Given the description of an element on the screen output the (x, y) to click on. 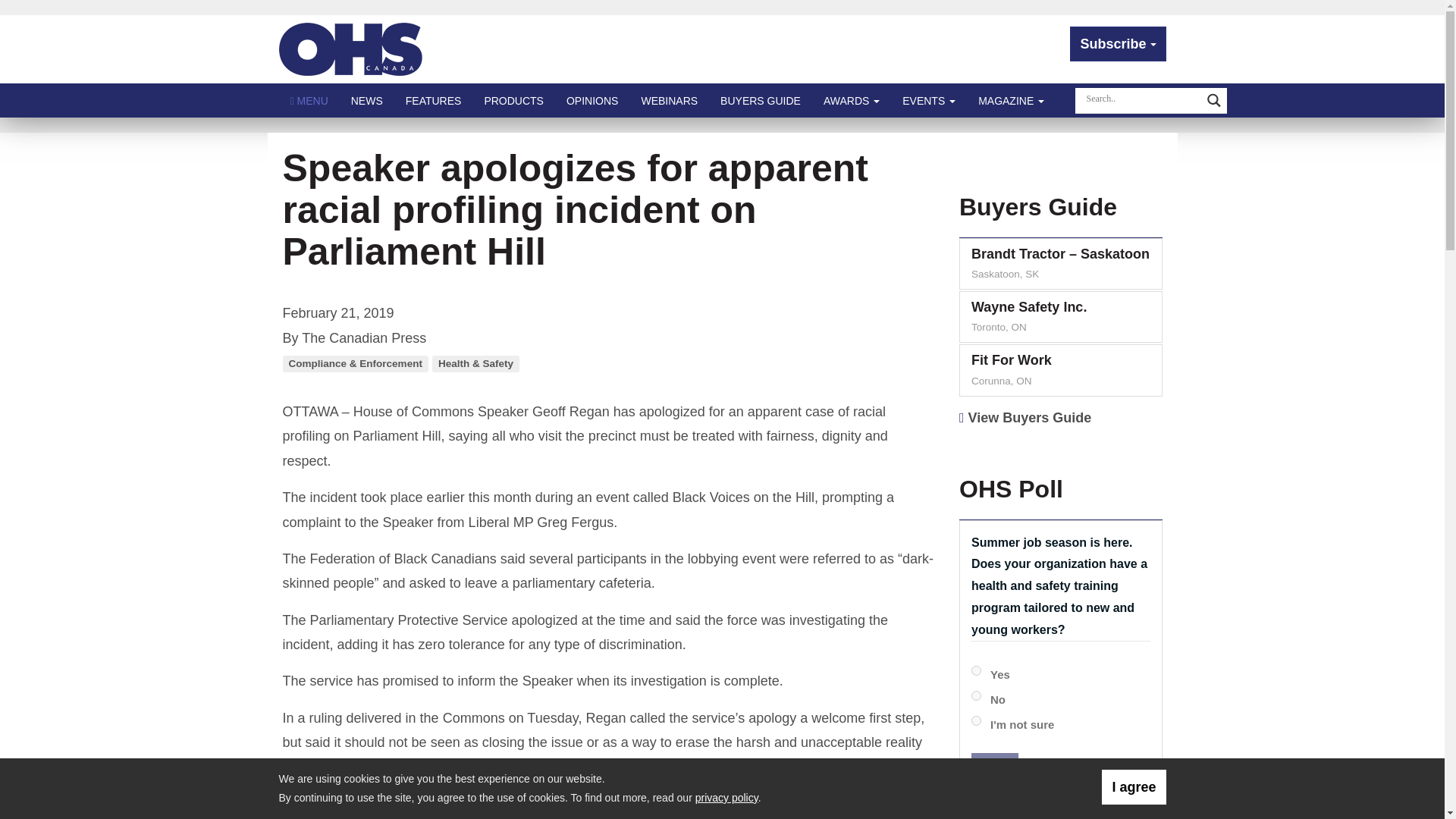
Click to show site navigation (309, 100)
Vote (994, 769)
OHS Canada Magazine (351, 48)
gpoll141fdf755 (976, 720)
WEBINARS (668, 100)
EVENTS (928, 100)
MAGAZINE (1010, 100)
gpoll135233128 (976, 670)
gpoll188dfb902 (976, 696)
NEWS (366, 100)
